Given the description of an element on the screen output the (x, y) to click on. 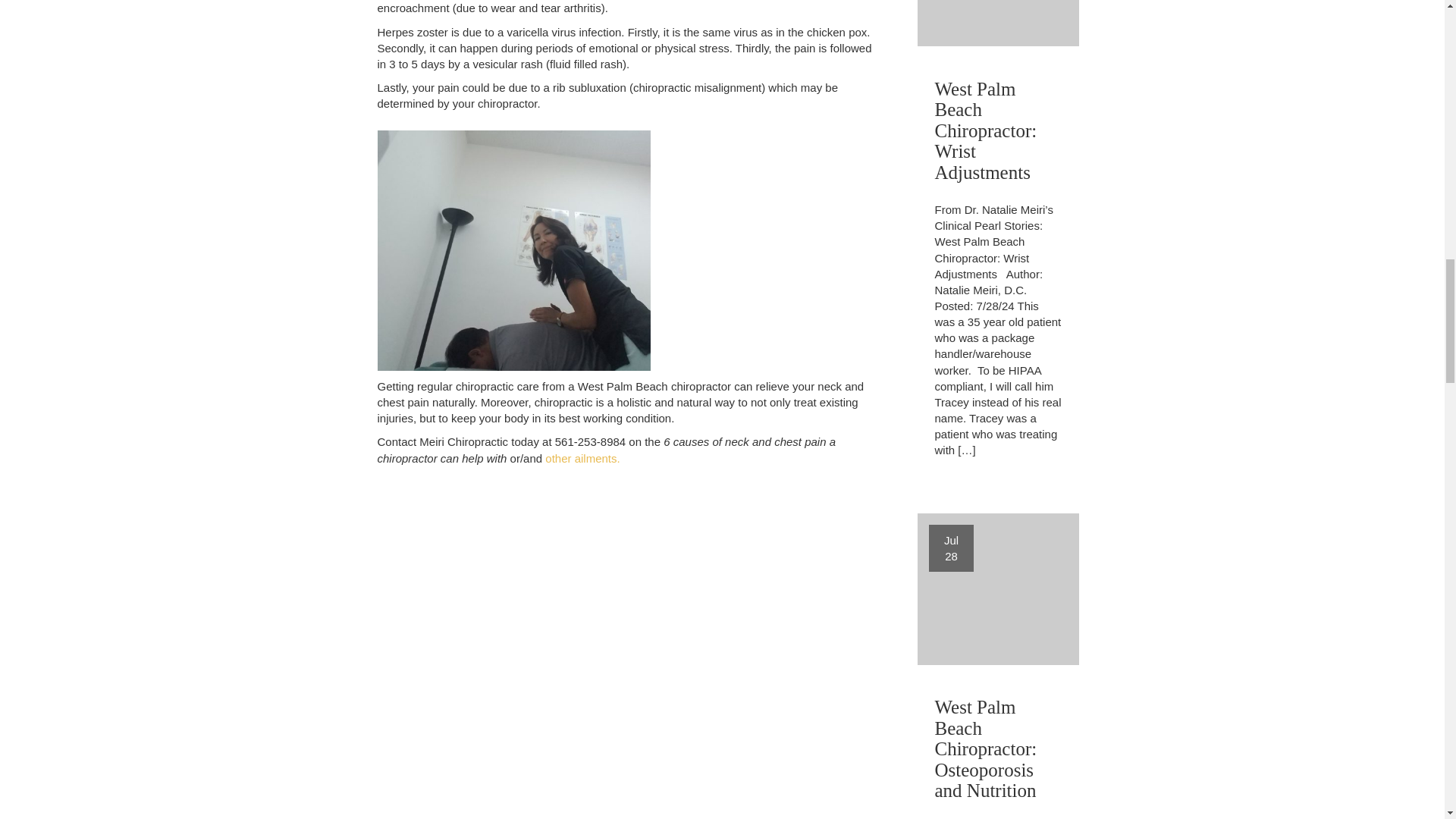
West Palm Beach Chiropractor: Wrist Adjustments (997, 126)
other ailments. (997, 589)
West Palm Beach Chiropractor: Osteoporosis and Nutrition (582, 458)
